Given the description of an element on the screen output the (x, y) to click on. 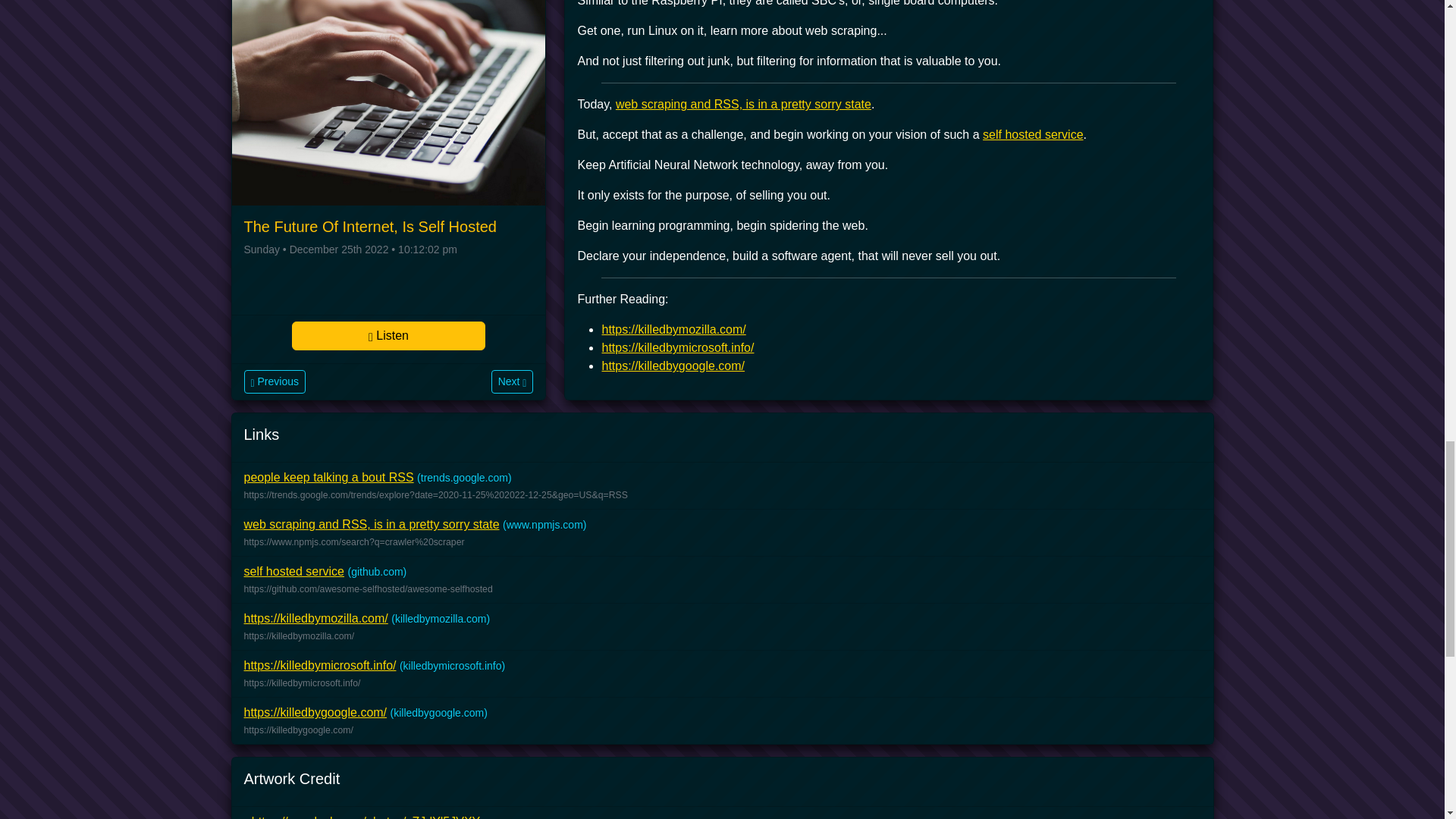
people keep talking a bout RSS (328, 477)
web scraping and RSS, is in a pretty sorry state (371, 523)
web scraping and RSS, is in a pretty sorry state (742, 103)
self hosted service (294, 571)
self hosted service (1032, 133)
